Given the description of an element on the screen output the (x, y) to click on. 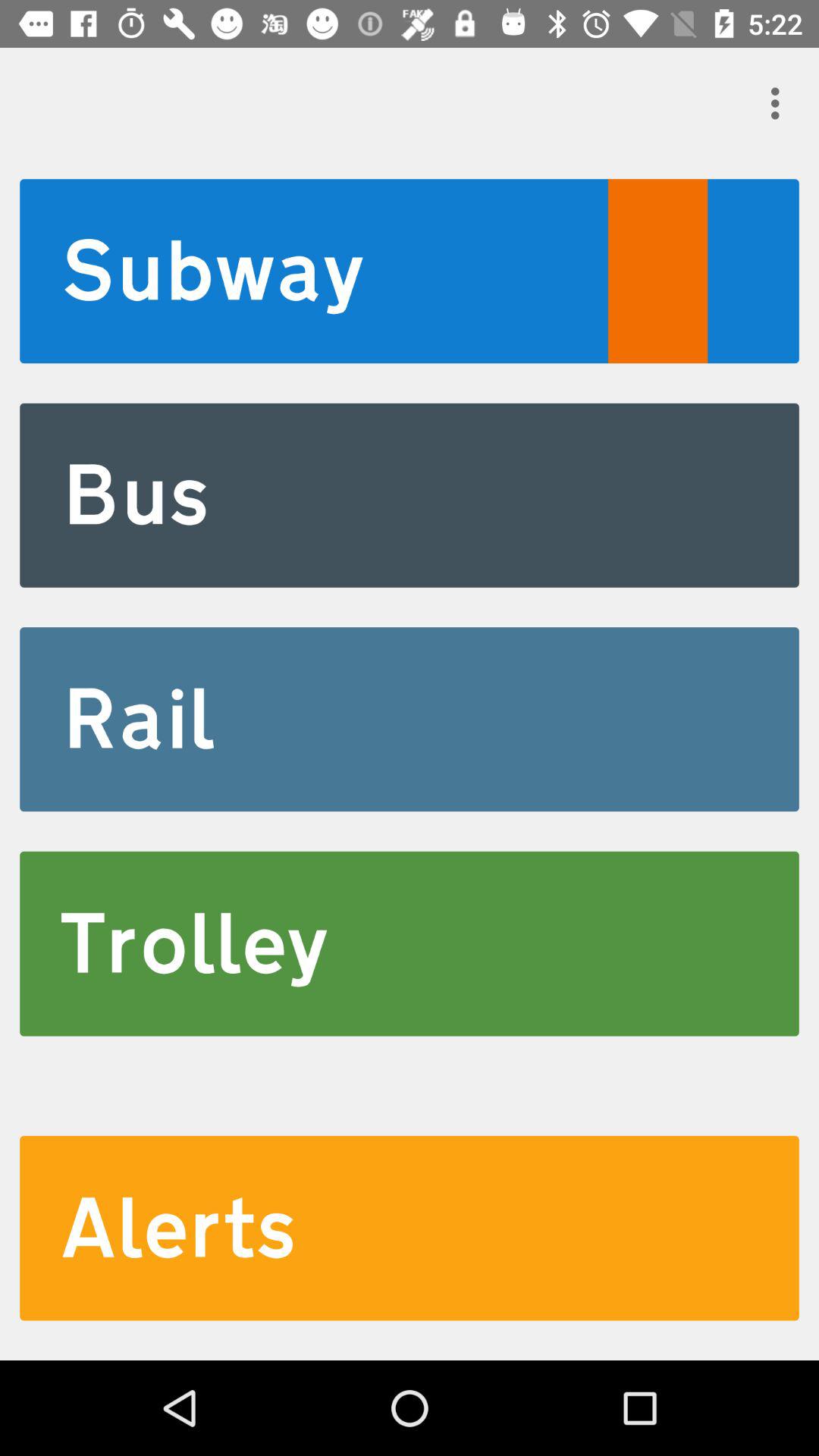
launch the trolley (409, 943)
